Given the description of an element on the screen output the (x, y) to click on. 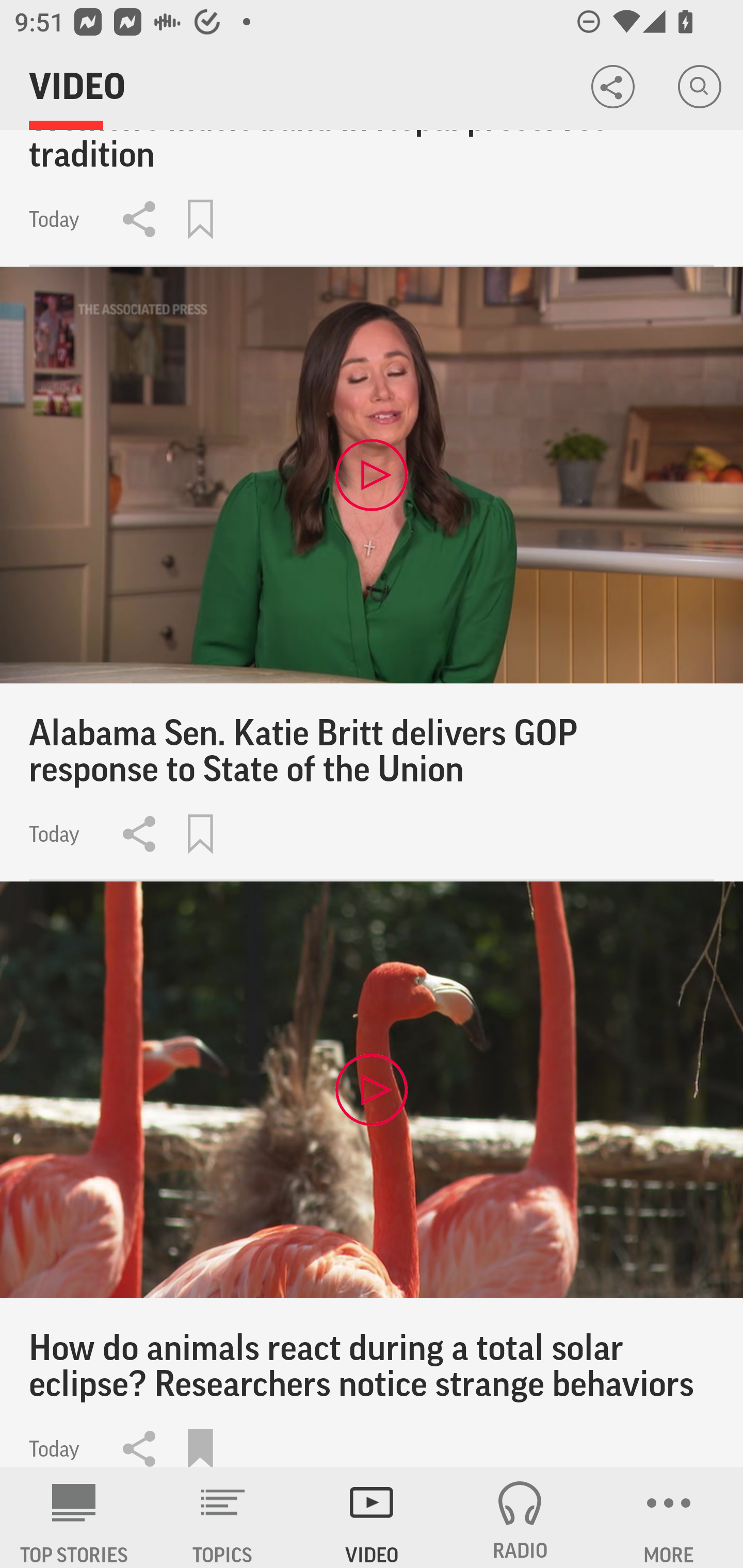
AP News TOP STORIES (74, 1517)
TOPICS (222, 1517)
VIDEO (371, 1517)
RADIO (519, 1517)
MORE (668, 1517)
